Given the description of an element on the screen output the (x, y) to click on. 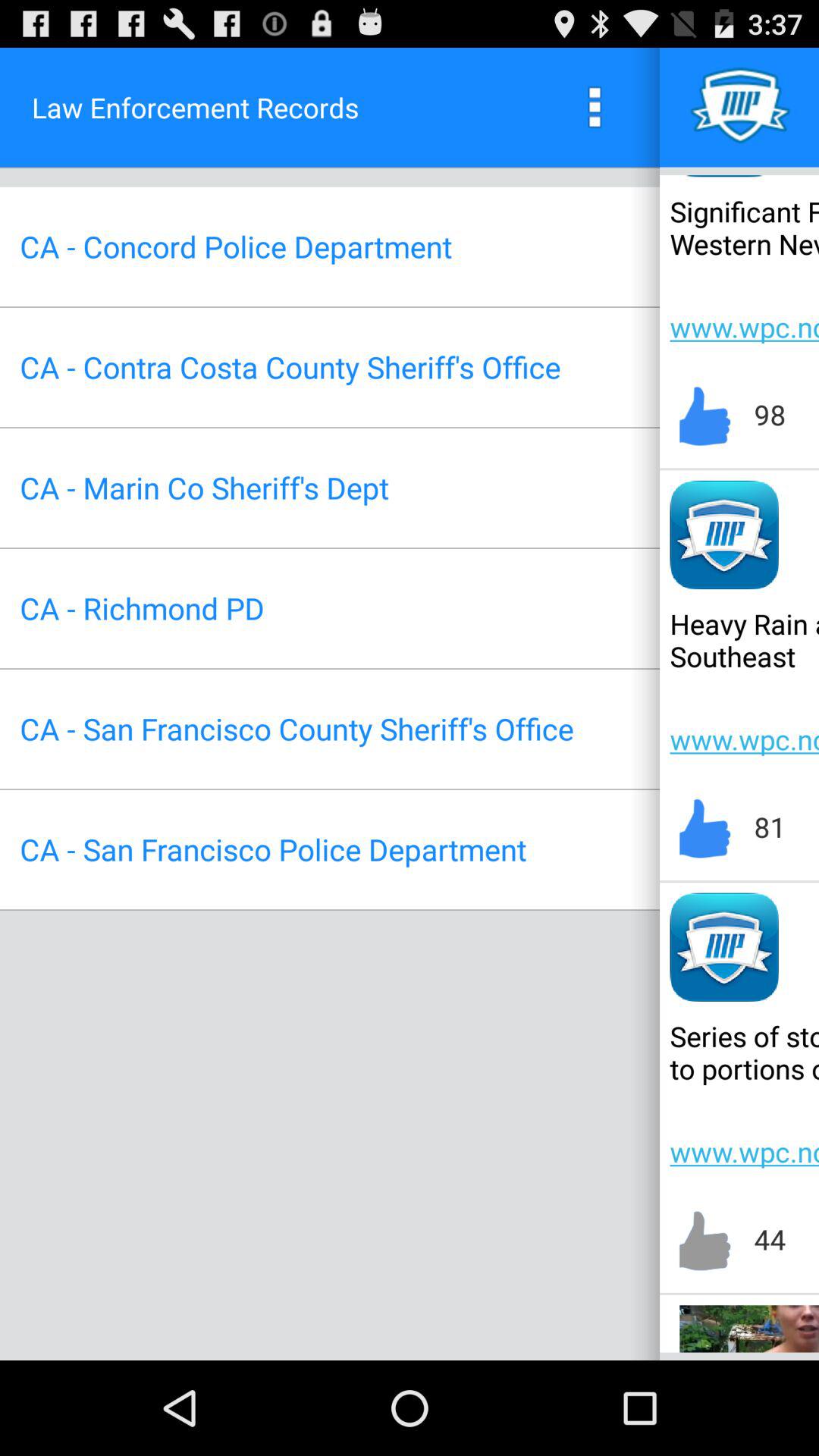
press item below ca contra costa icon (204, 487)
